Given the description of an element on the screen output the (x, y) to click on. 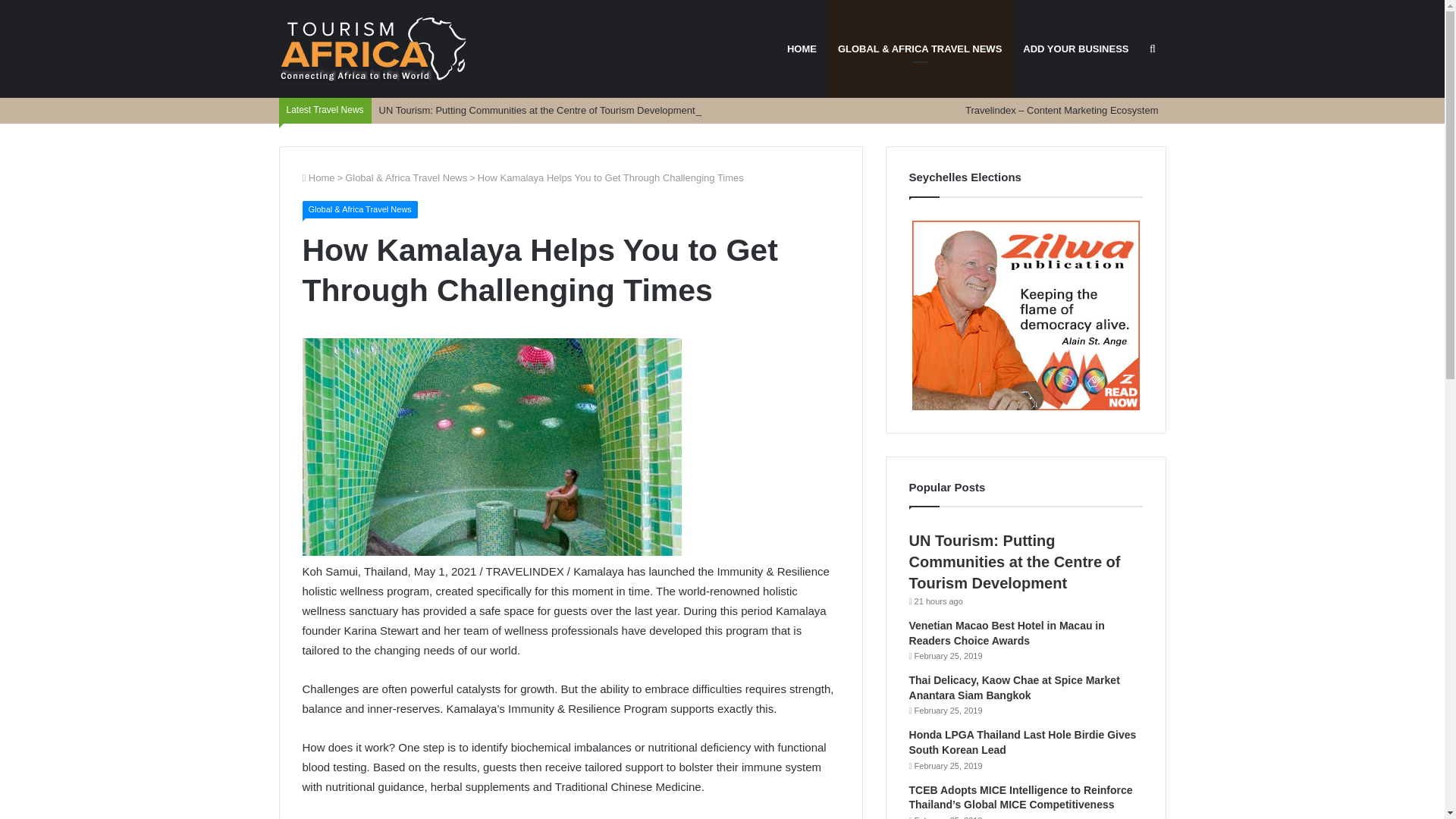
Venetian Macao Best Hotel in Macau in Readers Choice Awards (1006, 633)
Honda LPGA Thailand Last Hole Birdie Gives South Korean Lead (1022, 741)
ADD YOUR BUSINESS (1074, 48)
Tourismpedia (373, 48)
HOME (801, 48)
Search for (1152, 48)
Venetian Macao Best Hotel in Macau in Readers Choice Awards (1006, 633)
Honda LPGA Thailand Last Hole Birdie Gives South Korean Lead (1022, 741)
Home (317, 177)
